Given the description of an element on the screen output the (x, y) to click on. 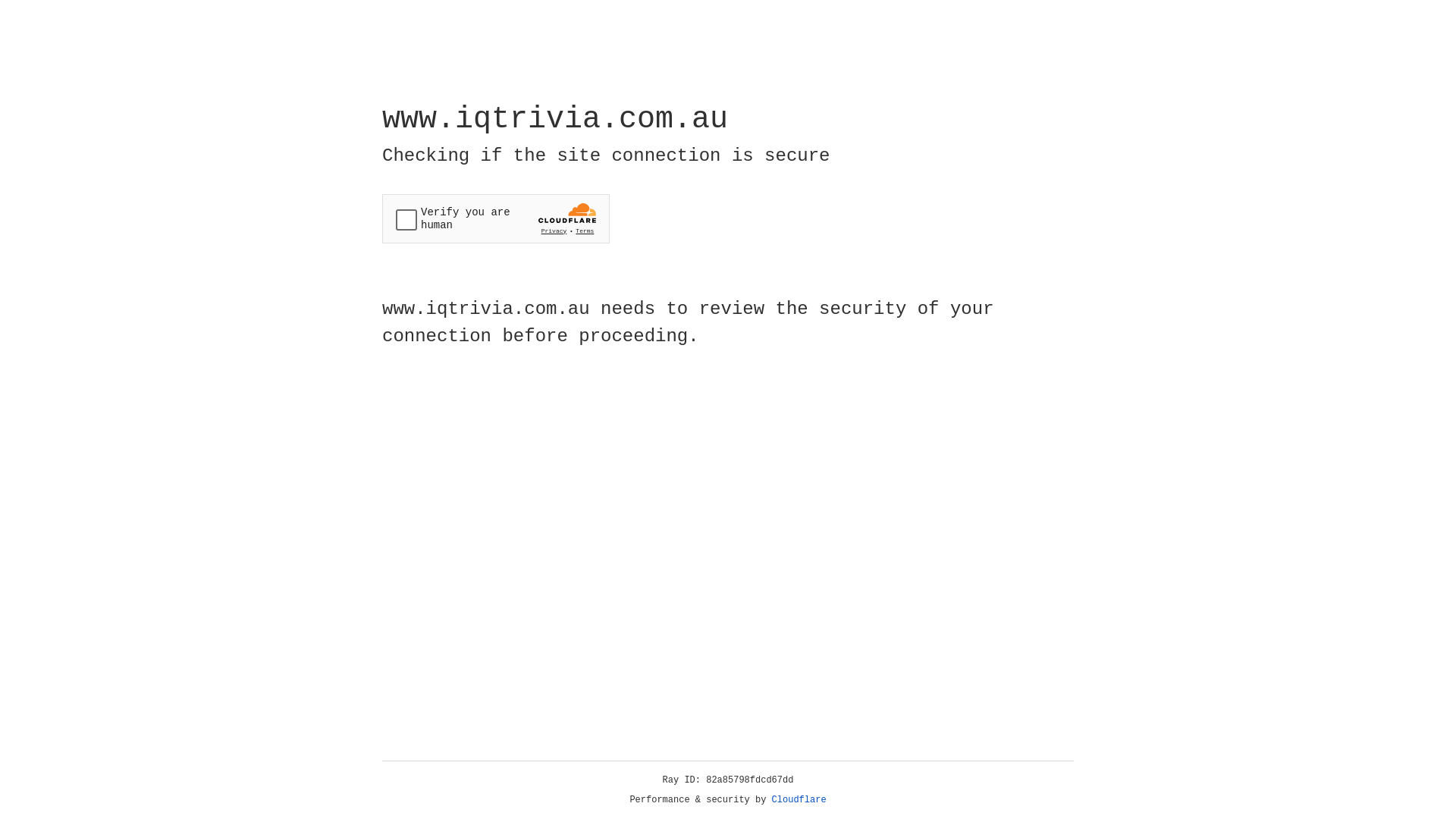
Widget containing a Cloudflare security challenge Element type: hover (495, 218)
Cloudflare Element type: text (798, 799)
